Given the description of an element on the screen output the (x, y) to click on. 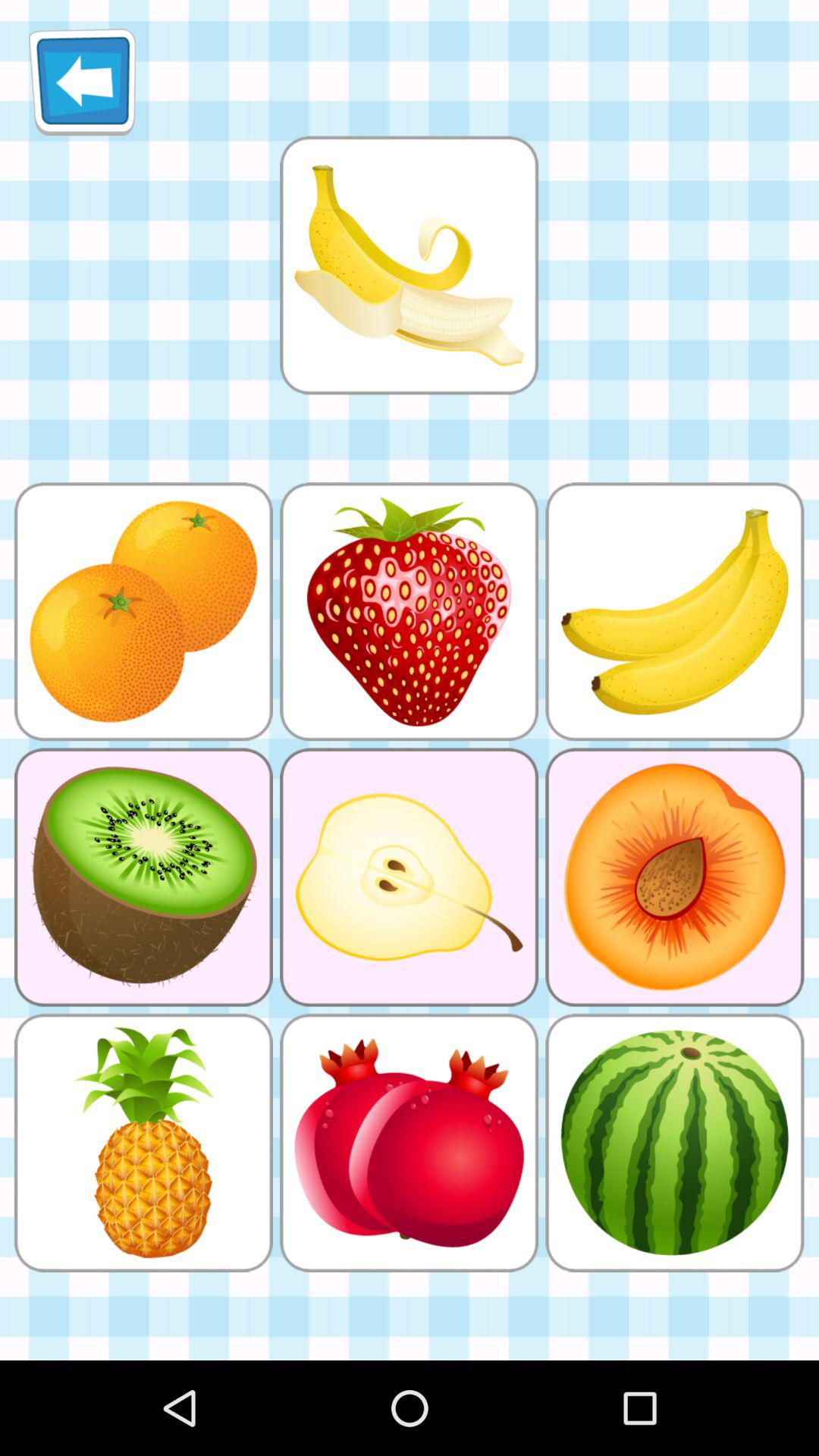
exit out of game (82, 82)
